Given the description of an element on the screen output the (x, y) to click on. 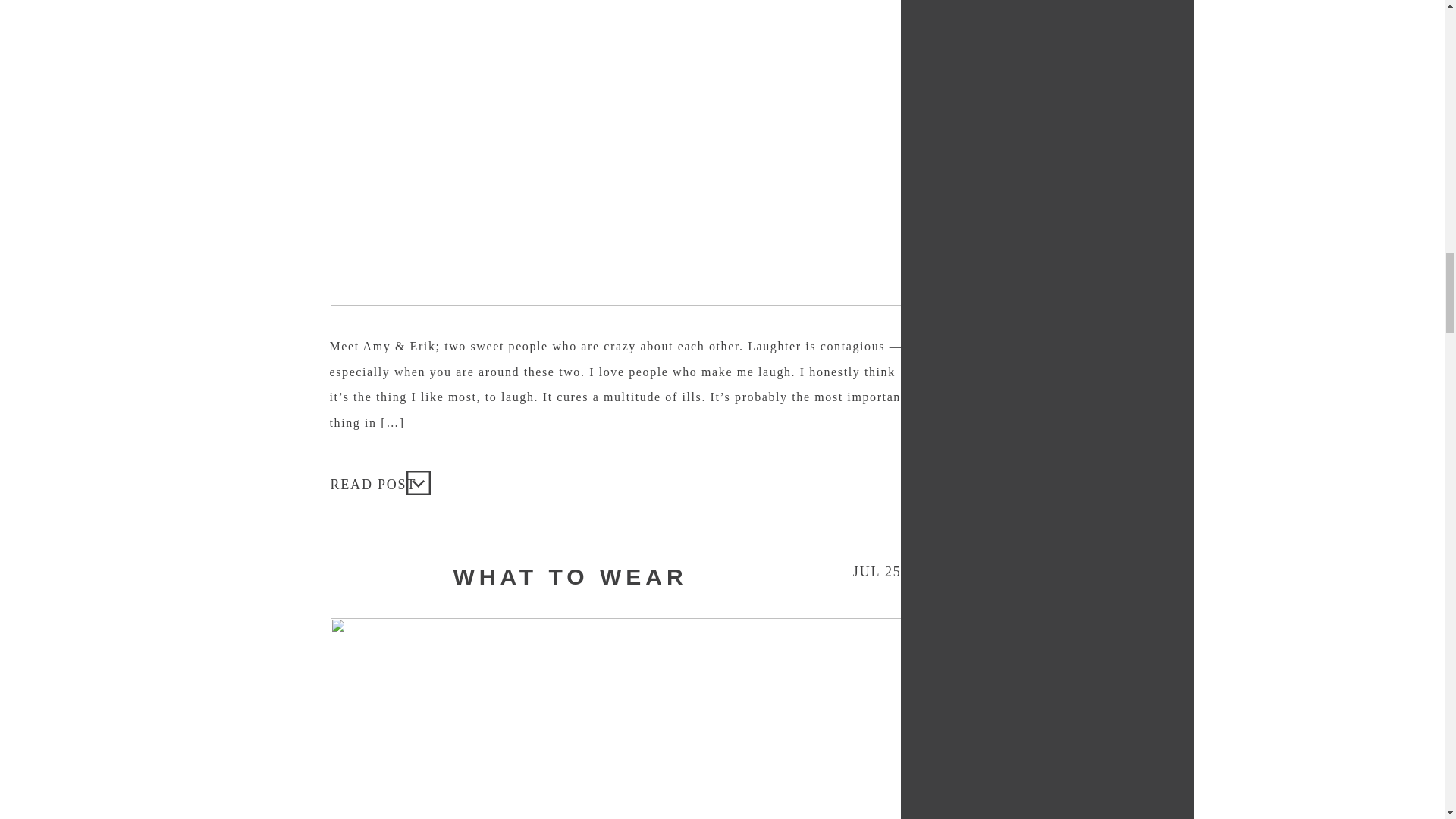
What to Wear (619, 718)
Laughter (418, 483)
Laughter (374, 481)
